Given the description of an element on the screen output the (x, y) to click on. 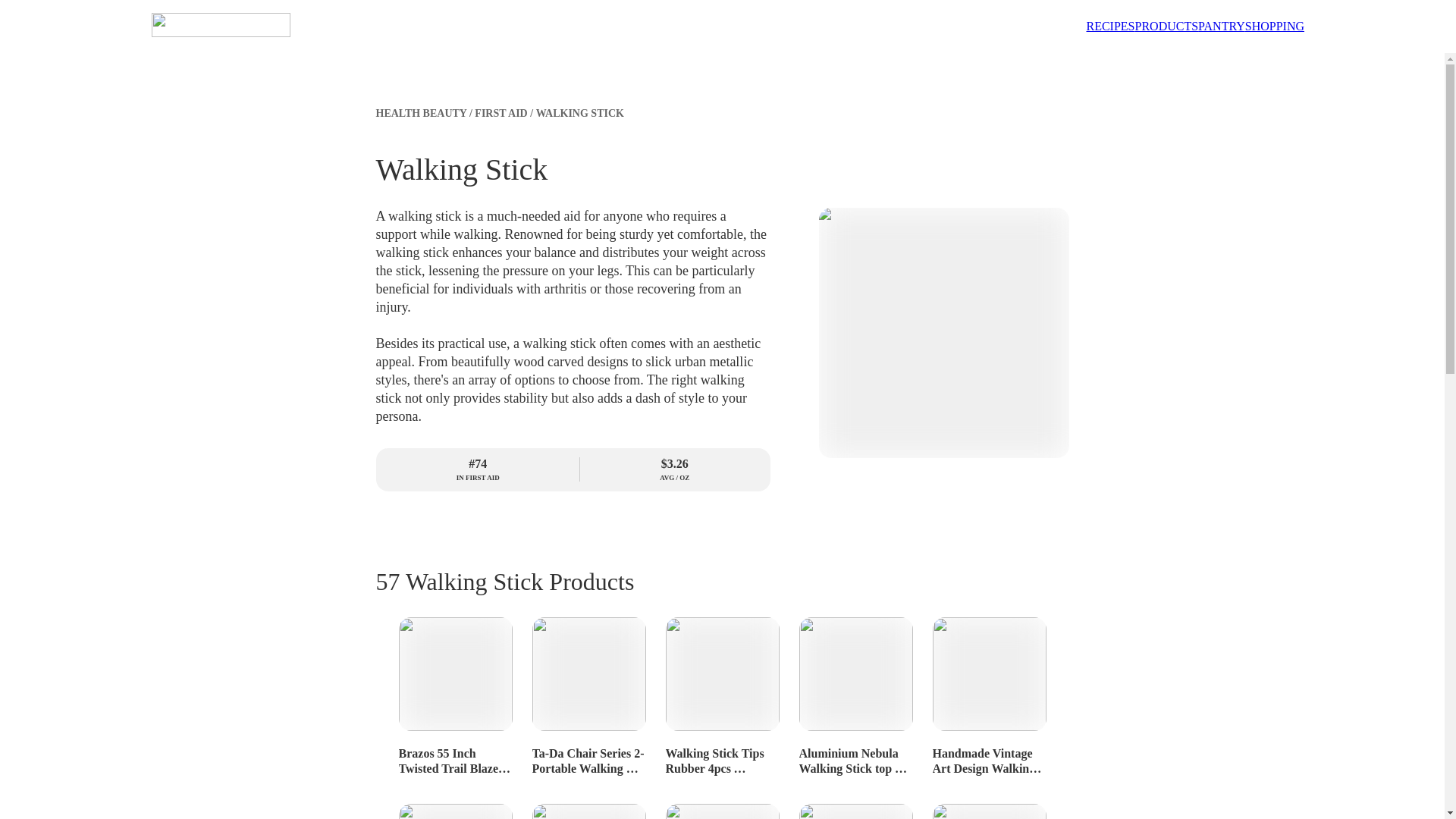
SHOPPING (1274, 26)
RECIPES (1110, 26)
PRODUCTS (1166, 26)
PANTRY (1221, 26)
